Given the description of an element on the screen output the (x, y) to click on. 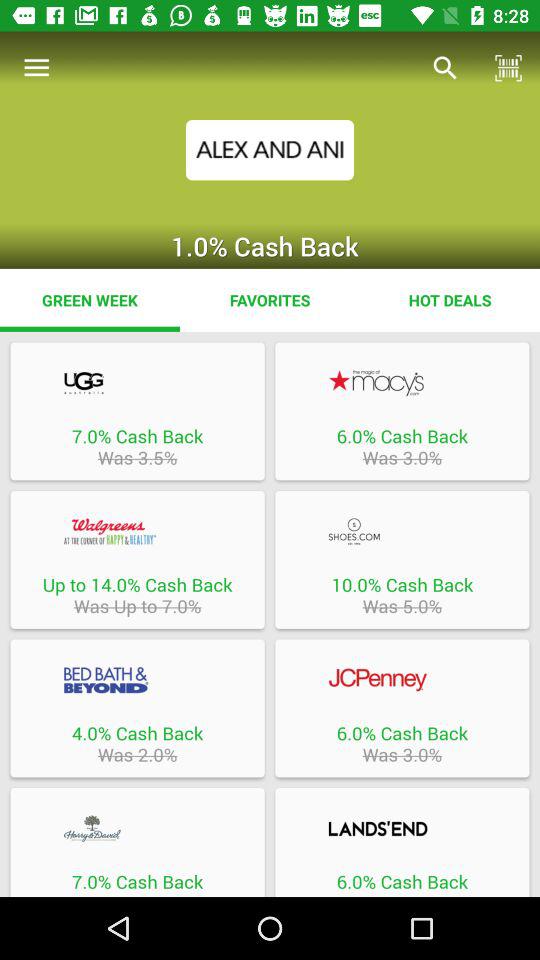
redirect (402, 382)
